Given the description of an element on the screen output the (x, y) to click on. 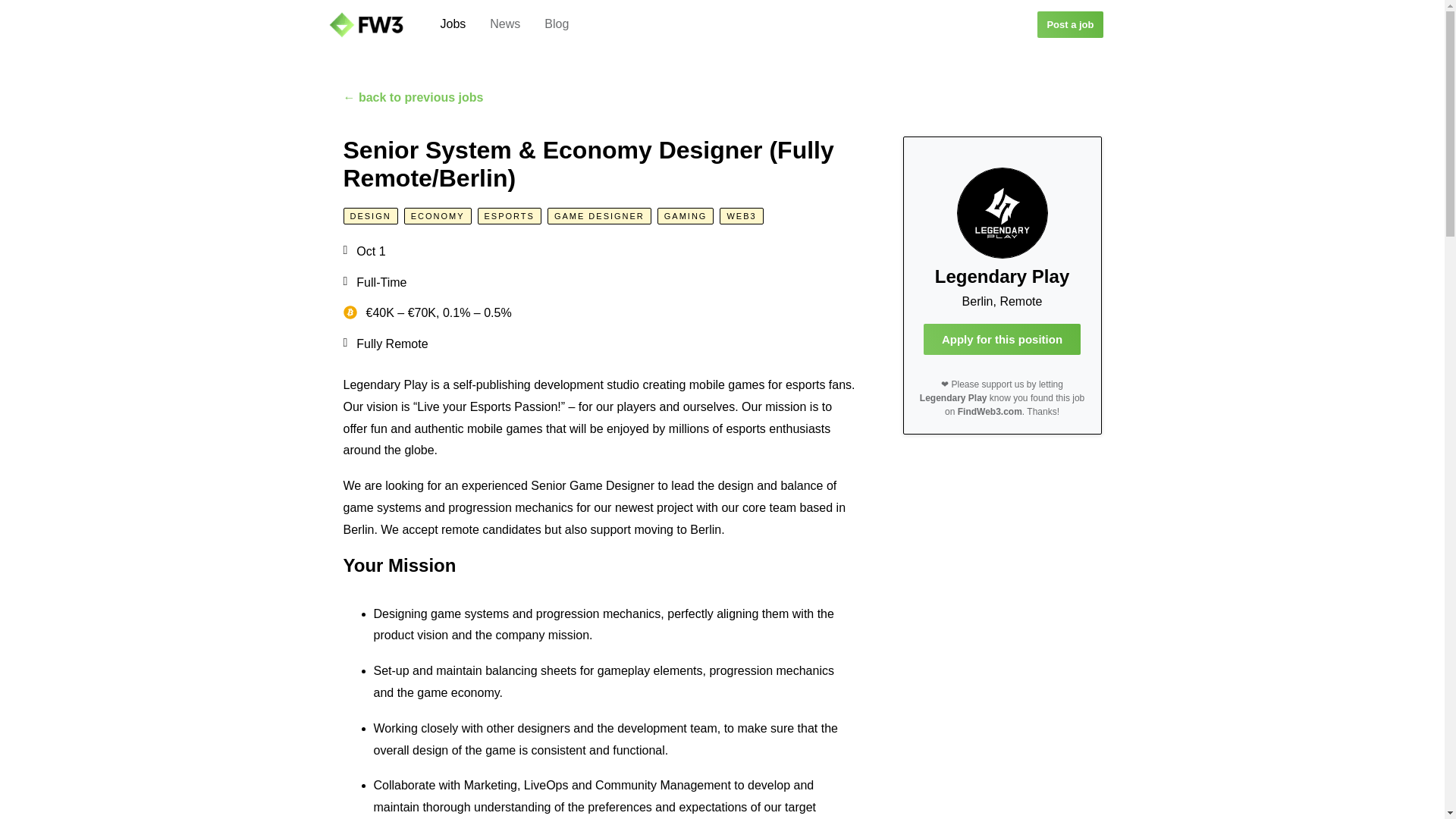
ECONOMY (437, 216)
DESIGN (369, 216)
Blog (556, 23)
Jobs (452, 23)
ESPORTS (509, 216)
Apply for this position (1001, 338)
WEB3 (740, 216)
GAME DESIGNER (598, 216)
News (504, 23)
Post a job (1069, 23)
GAMING (686, 216)
